Given the description of an element on the screen output the (x, y) to click on. 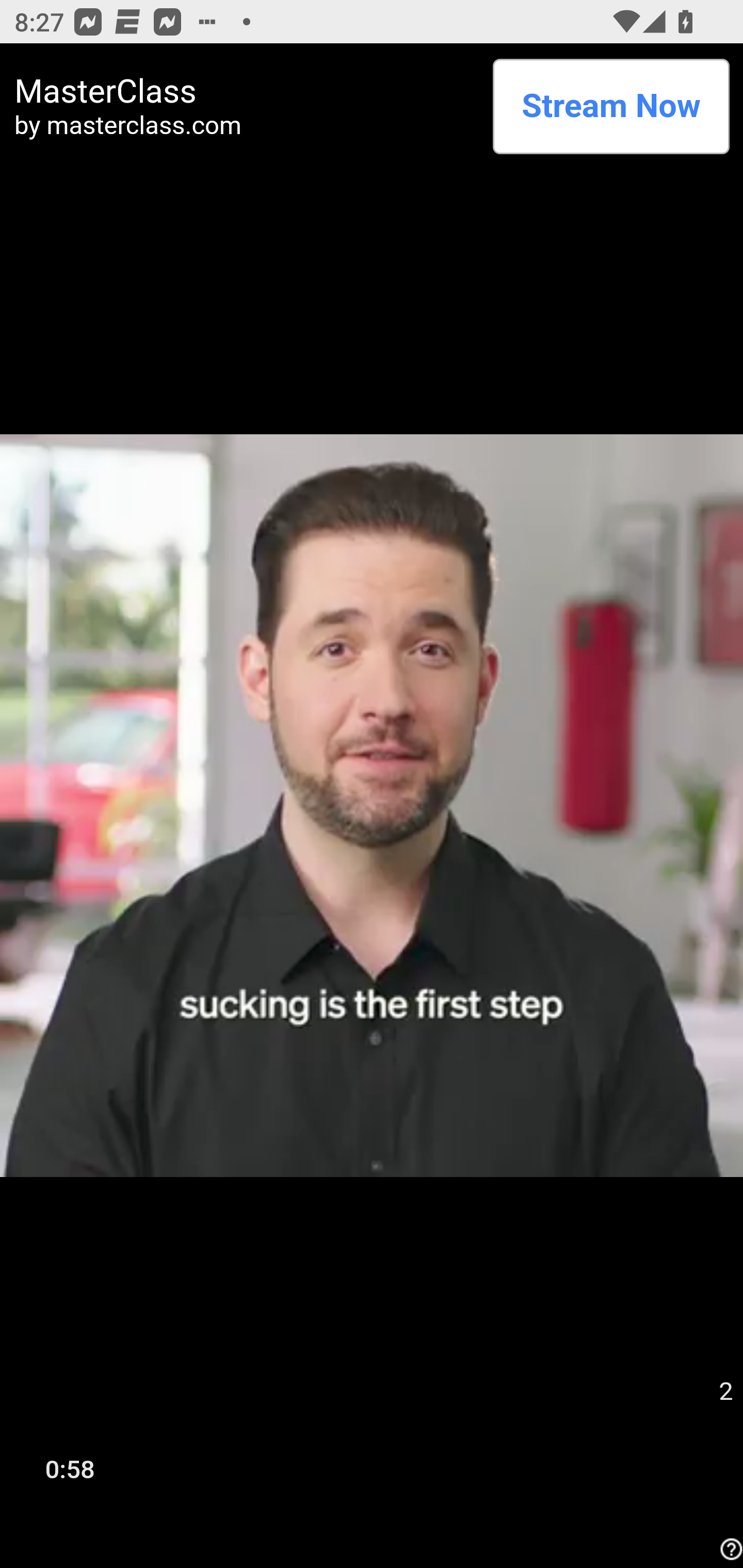
Stream Now (611, 106)
MasterClass (247, 91)
by masterclass.com (247, 125)
Skip Ad Countdown (725, 1391)
0:58 (70, 1468)
help_outline_white_24dp_with_3px_trbl_padding (728, 1548)
